Given the description of an element on the screen output the (x, y) to click on. 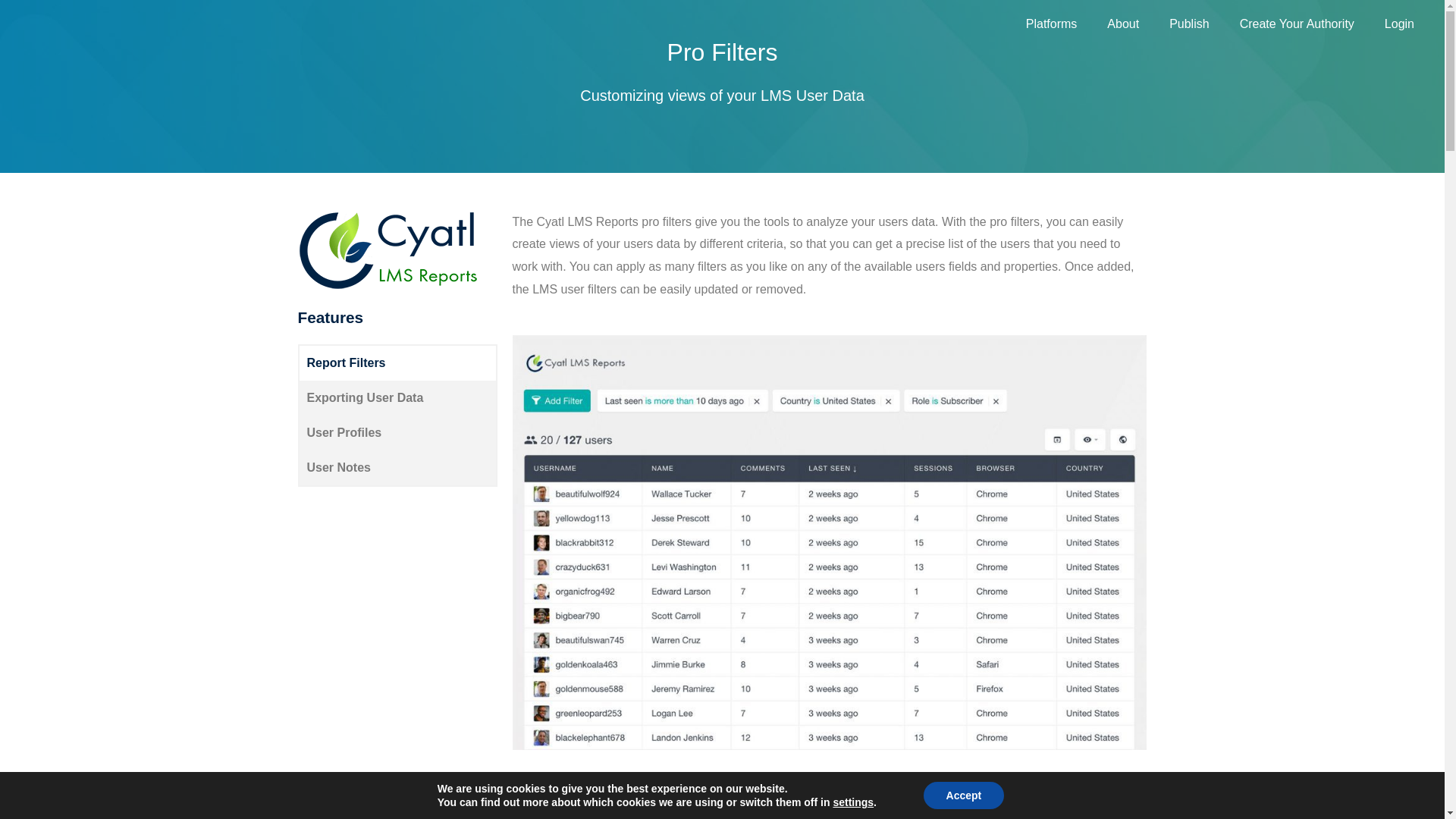
Login (1399, 24)
Publish (1189, 24)
Report Filters (396, 362)
About (1123, 24)
settings (852, 802)
Exporting User Data (396, 397)
Platforms (1051, 24)
Accept (963, 795)
User Profiles (396, 432)
User Notes (396, 467)
Create Your Authority (1297, 24)
